Given the description of an element on the screen output the (x, y) to click on. 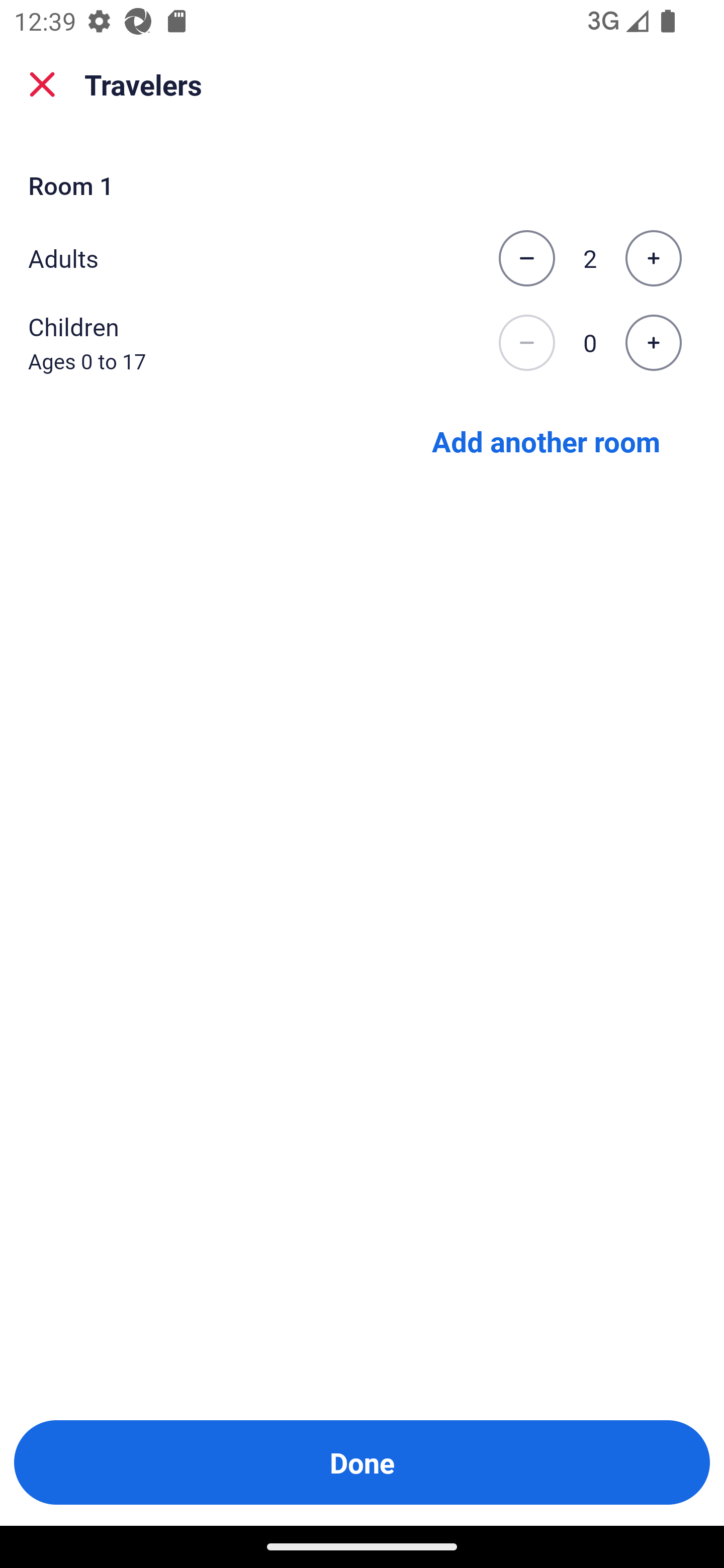
close (42, 84)
Decrease the number of adults (526, 258)
Increase the number of adults (653, 258)
Decrease the number of children (526, 343)
Increase the number of children (653, 343)
Add another room (545, 440)
Done (361, 1462)
